Given the description of an element on the screen output the (x, y) to click on. 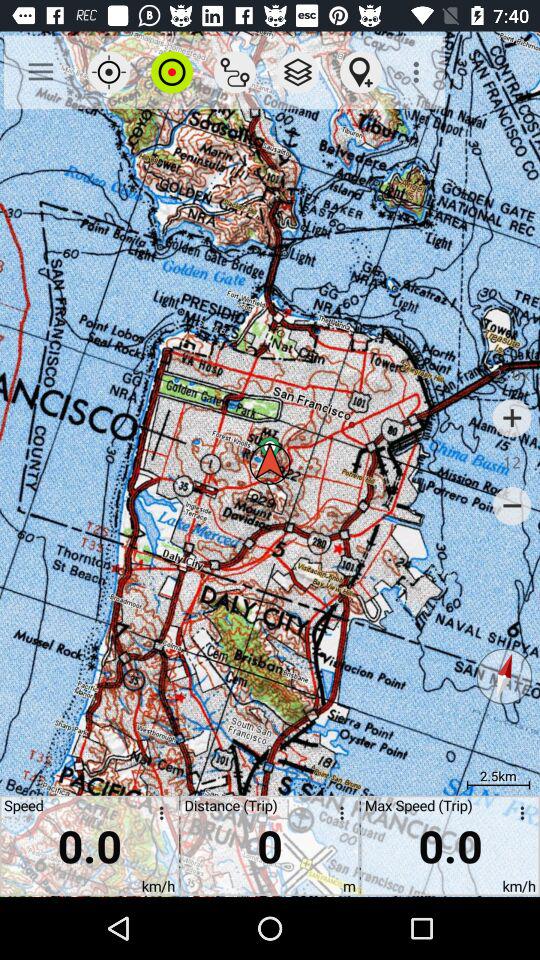
speed options (158, 816)
